Given the description of an element on the screen output the (x, y) to click on. 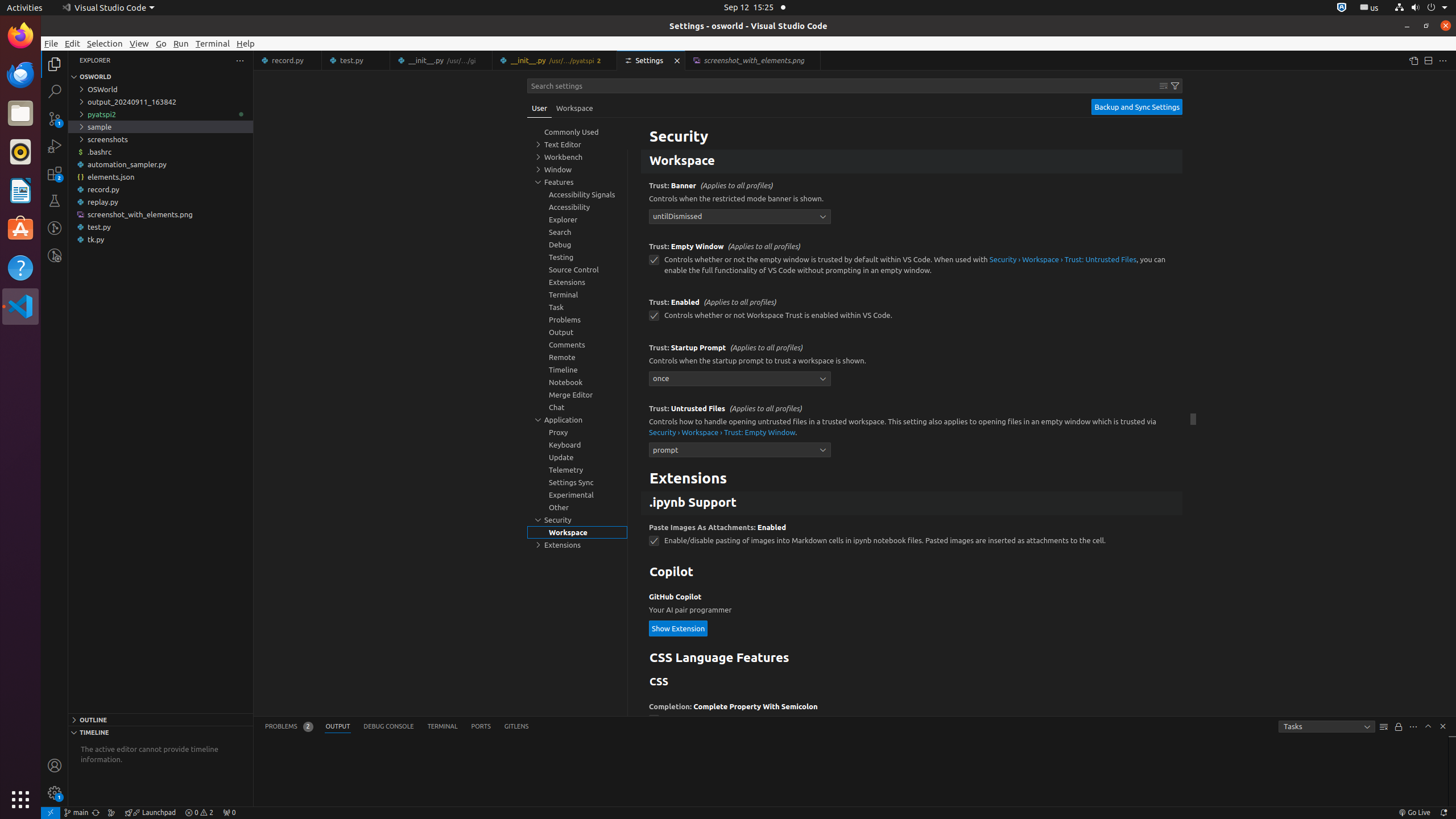
More Actions... (Shift+F9) Element type: push-button (634, 704)
Run Element type: push-button (181, 43)
prompt Element type: menu-item (739, 449)
Go Element type: push-button (161, 43)
record.py Element type: page-tab (287, 60)
